Given the description of an element on the screen output the (x, y) to click on. 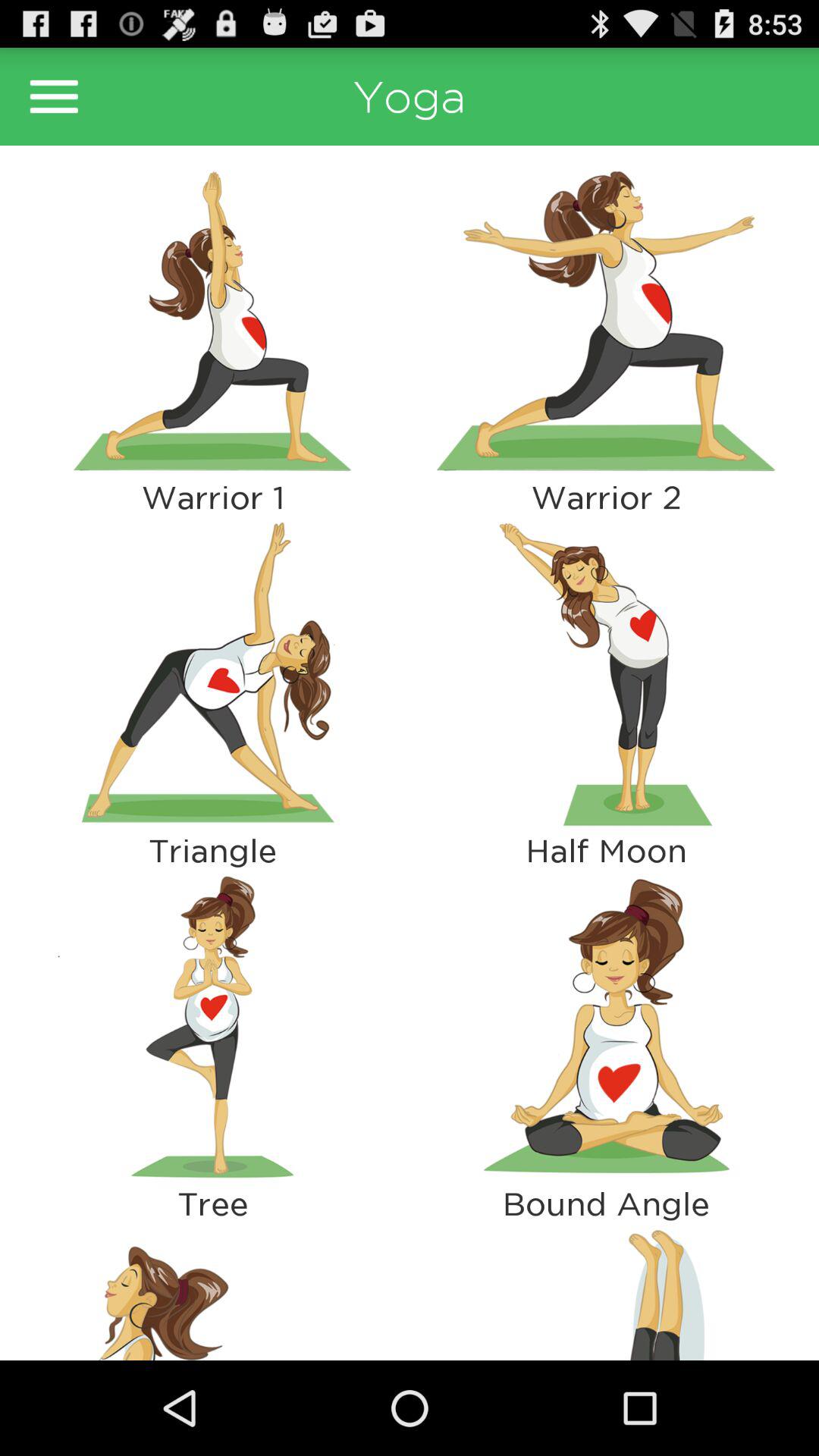
select specific exercise (606, 320)
